Given the description of an element on the screen output the (x, y) to click on. 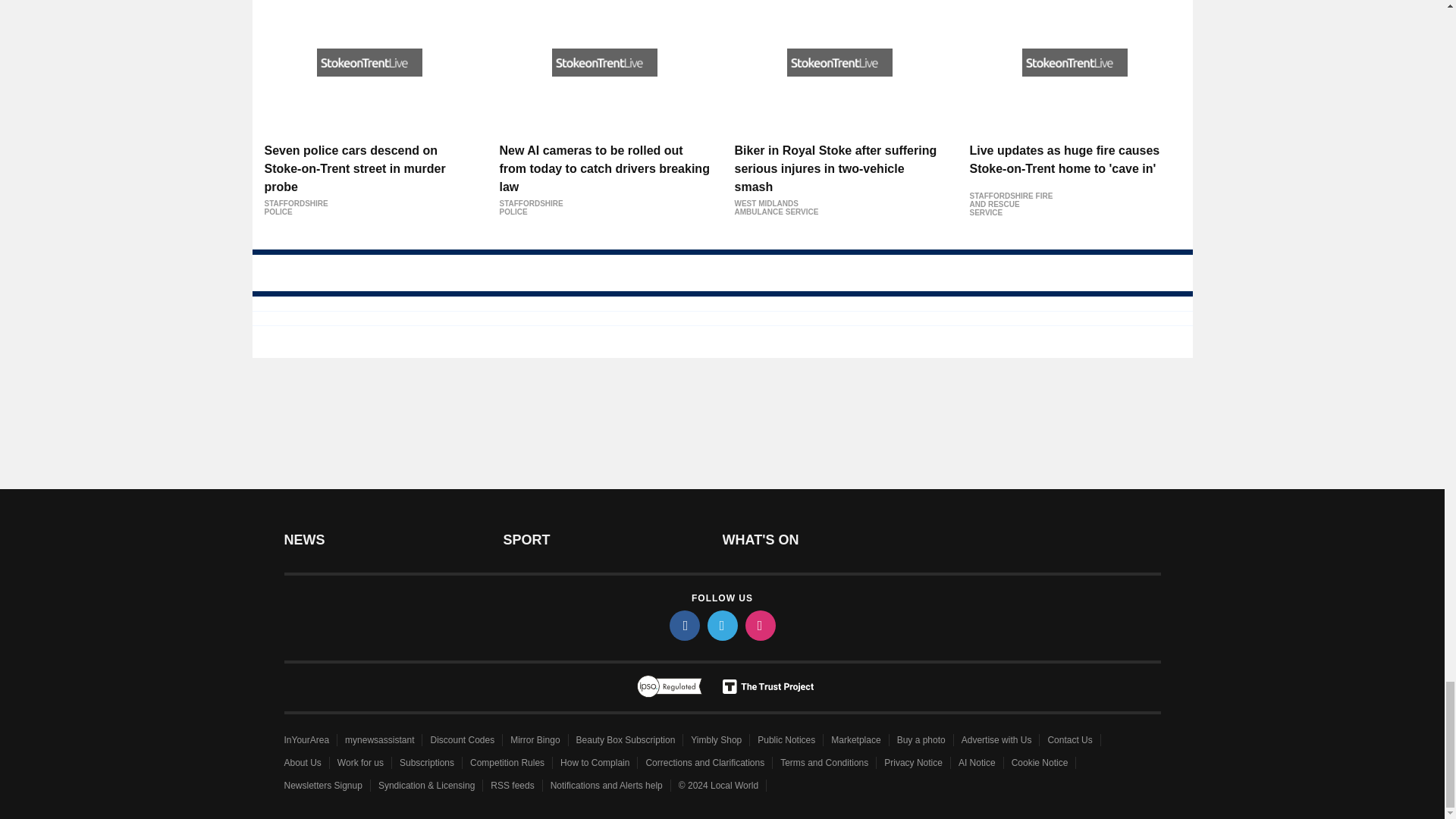
twitter (721, 625)
instagram (759, 625)
facebook (683, 625)
